Given the description of an element on the screen output the (x, y) to click on. 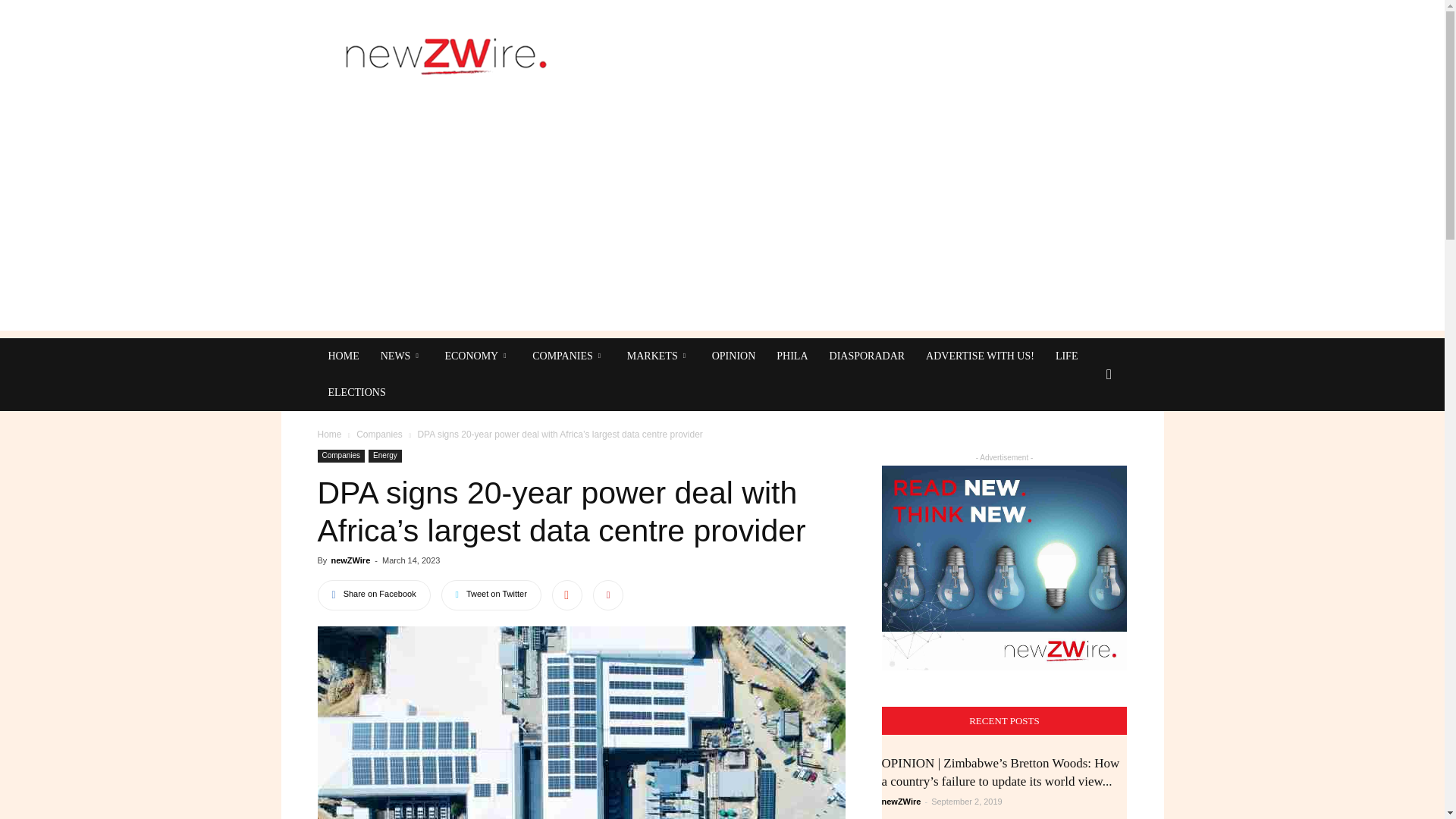
HOME (343, 356)
NEWS (401, 356)
